Given the description of an element on the screen output the (x, y) to click on. 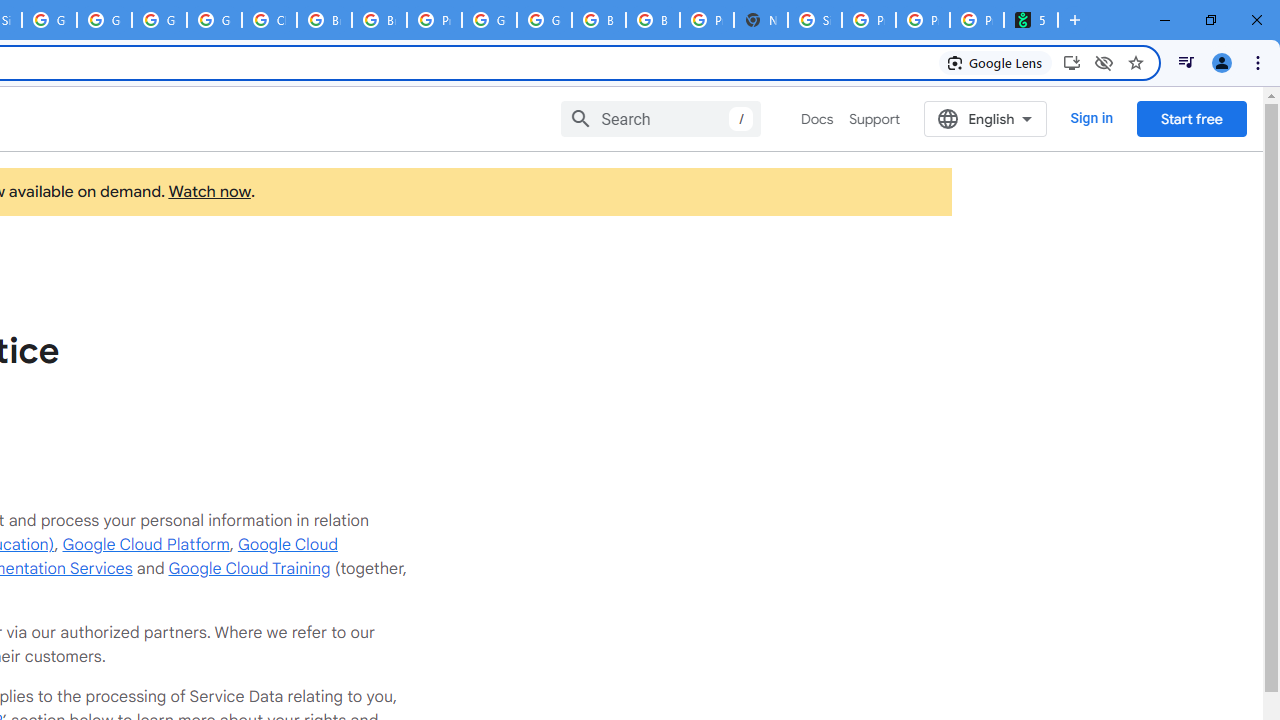
Start free (1191, 118)
Google Cloud Training (249, 568)
Sign in - Google Accounts (815, 20)
Google Cloud Platform (145, 544)
Google Cloud Platform (158, 20)
